Given the description of an element on the screen output the (x, y) to click on. 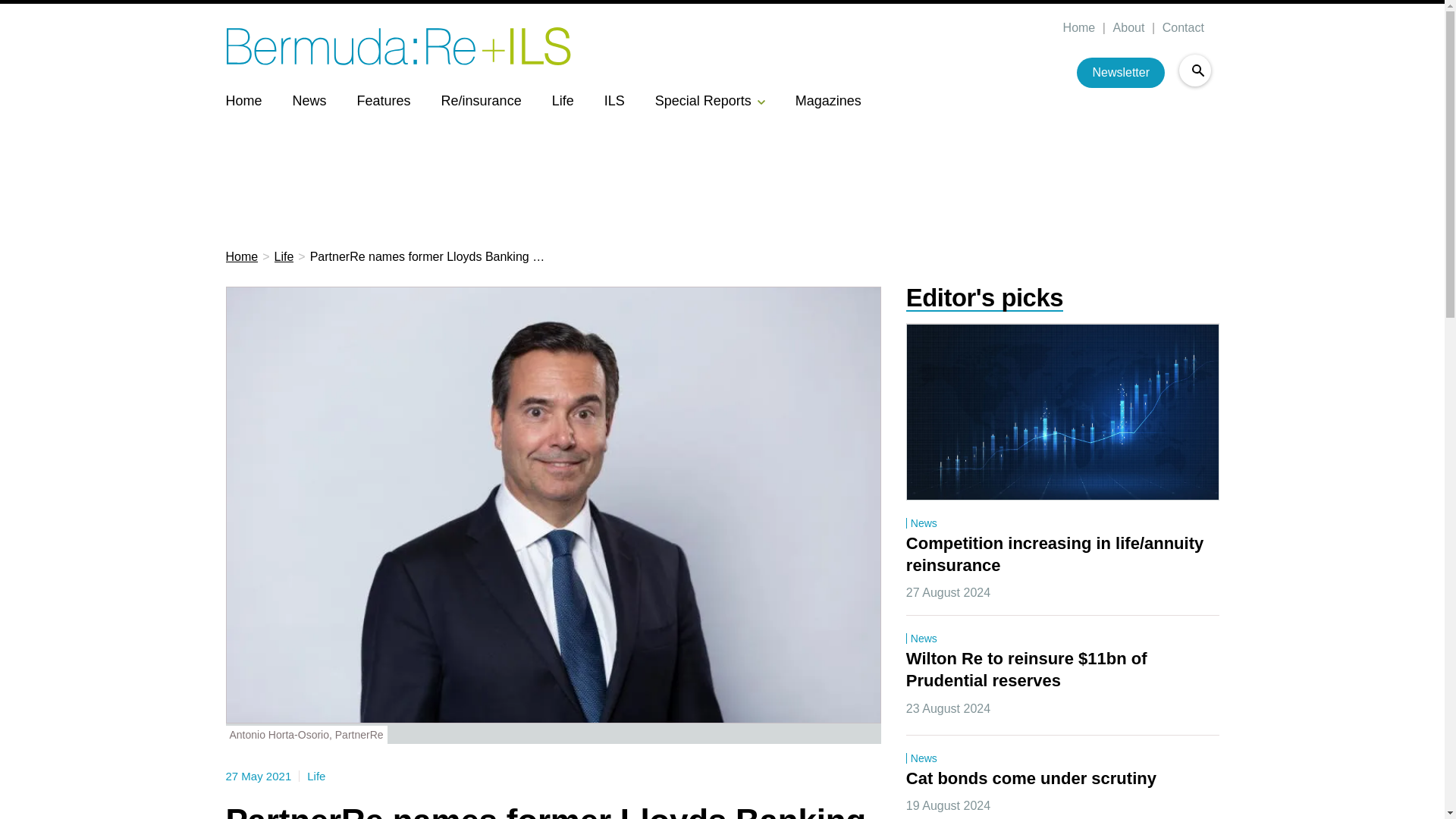
News (309, 100)
About (1126, 28)
Newsletter (1120, 72)
Home (243, 100)
Contact (1181, 28)
Magazines (827, 100)
Features (383, 100)
Life (562, 100)
Cat bonds come under scrutiny (1032, 779)
PartnerRe names former Lloyds Banking Group CEO to its board (431, 257)
